Given the description of an element on the screen output the (x, y) to click on. 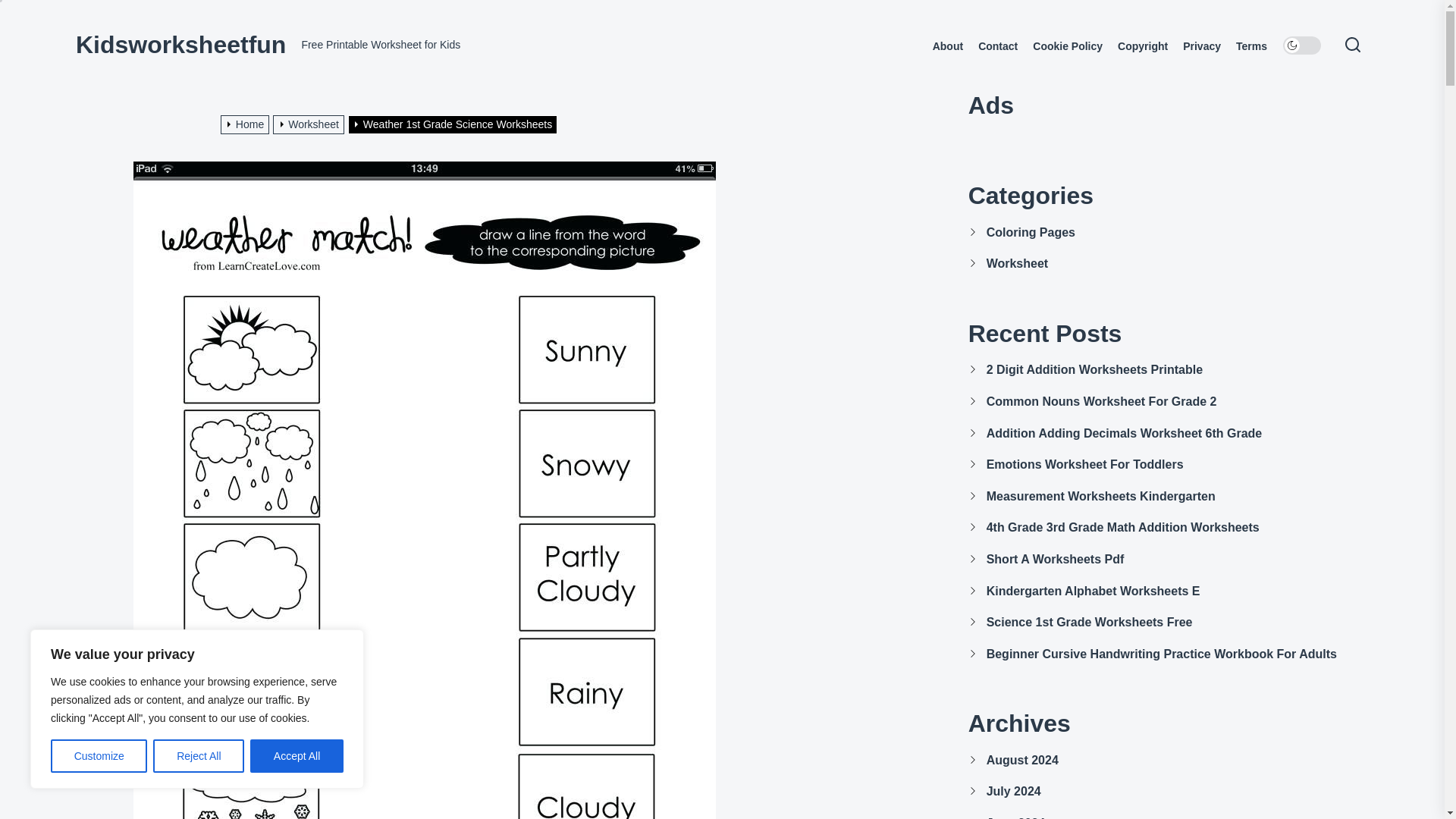
Copyright (1142, 46)
Weather 1st Grade Science Worksheets (453, 123)
Contact (997, 46)
Reject All (198, 756)
Terms (1251, 46)
Customize (98, 756)
Privacy (1201, 46)
About (947, 46)
Cookie Policy (1067, 46)
Home (247, 123)
